Given the description of an element on the screen output the (x, y) to click on. 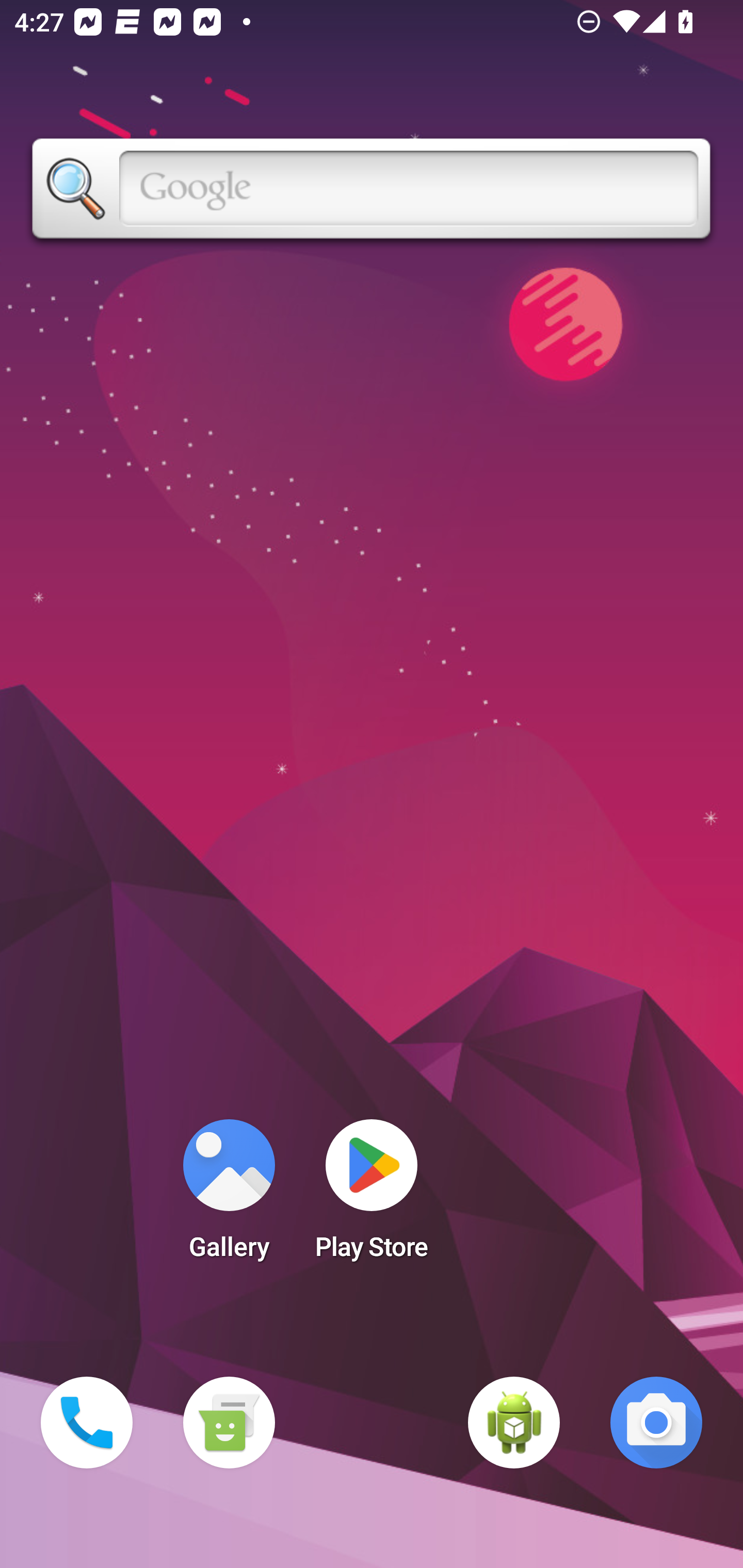
Gallery (228, 1195)
Play Store (371, 1195)
Phone (86, 1422)
Messaging (228, 1422)
WebView Browser Tester (513, 1422)
Camera (656, 1422)
